Given the description of an element on the screen output the (x, y) to click on. 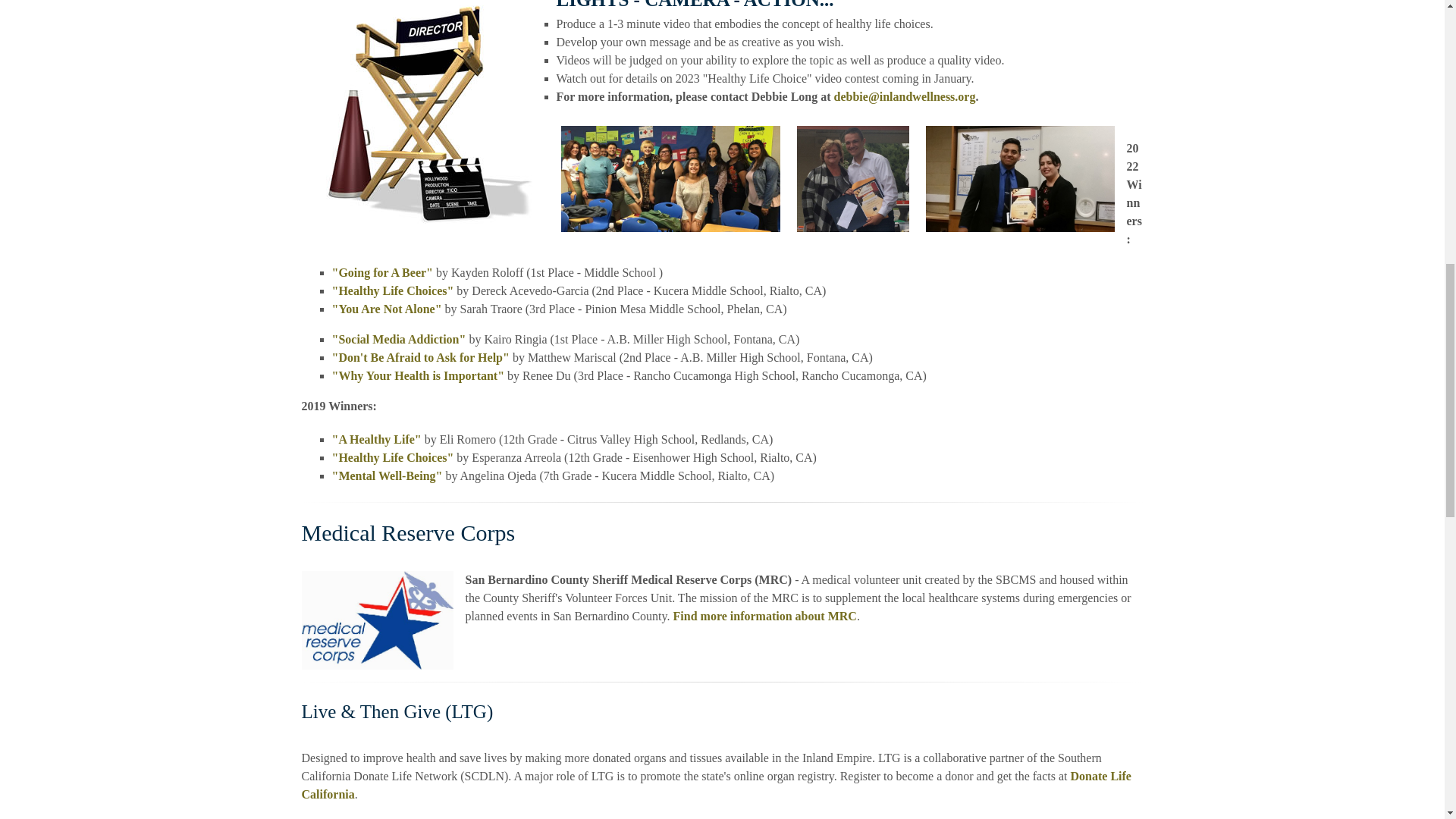
Opens new window to YouTube video (386, 308)
Director's chair (670, 178)
Director's chair (852, 178)
Director's chair (1018, 178)
Opens new window to YouTube video (392, 290)
Opens new window (716, 784)
Opens new window to YouTube video (381, 272)
Opens new window to YouTube video (386, 475)
Opens new window to YouTube video (376, 439)
Opens new window to YouTube video (392, 457)
